Given the description of an element on the screen output the (x, y) to click on. 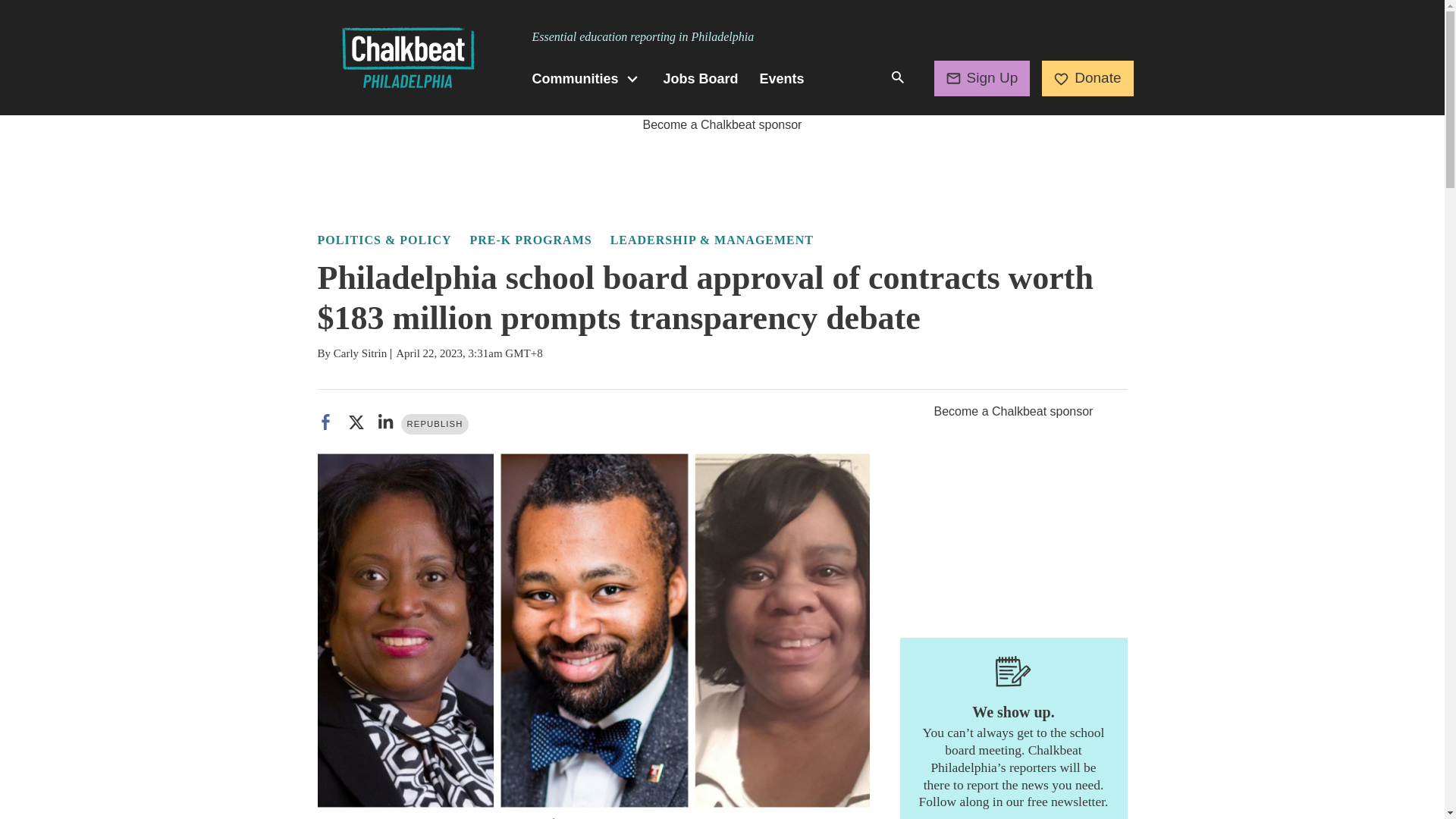
Sign Up (982, 77)
PRE-K PROGRAMS (531, 239)
3rd party ad content (721, 169)
REPUBLISH (434, 424)
Donate (1087, 77)
Events (782, 79)
Jobs Board (700, 79)
3rd party ad content (1012, 515)
Become a Chalkbeat sponsor (722, 124)
